Given the description of an element on the screen output the (x, y) to click on. 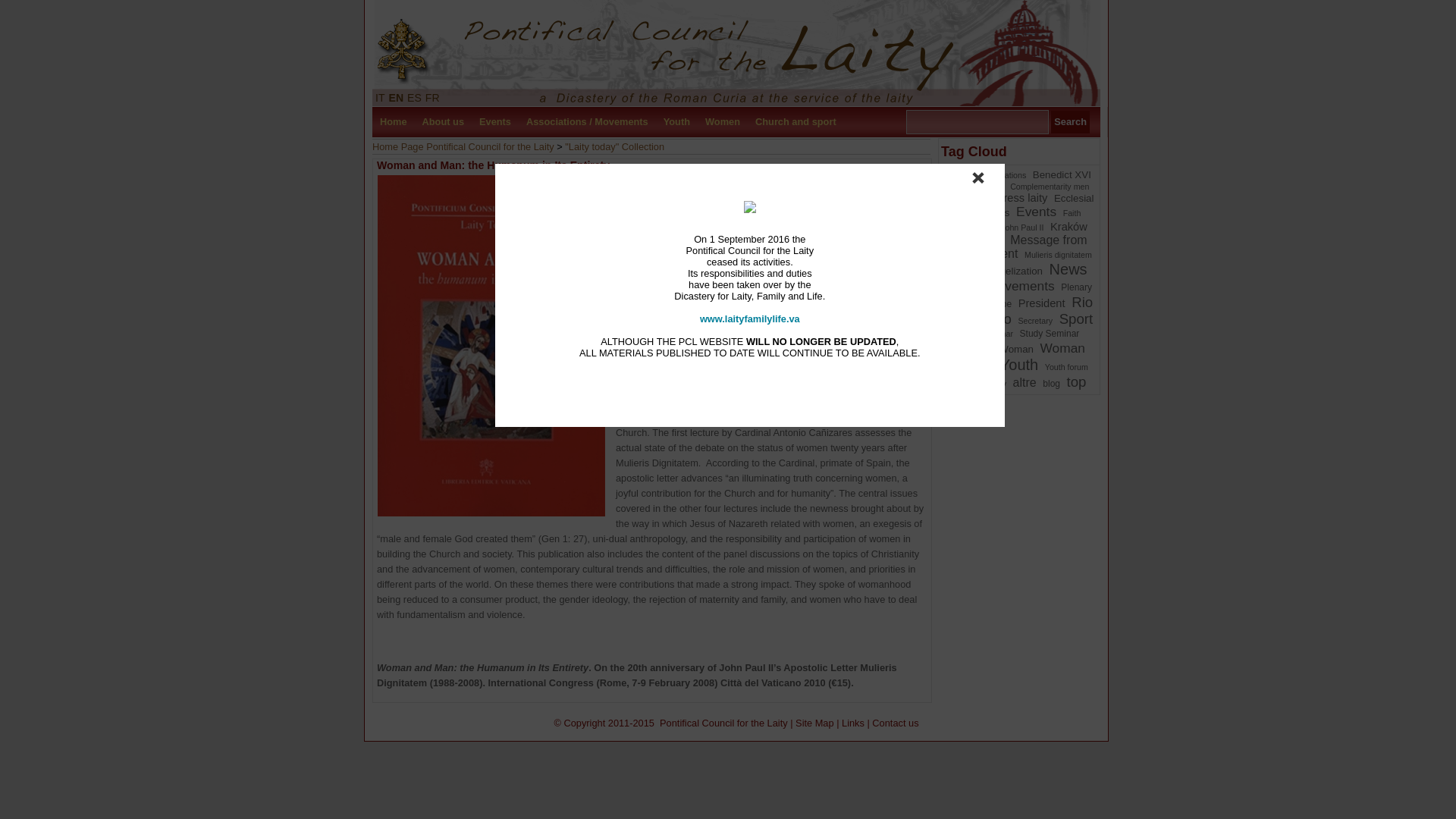
Associations (1002, 174)
Home (393, 122)
Africa (962, 174)
Search (1070, 121)
Home Page Pontifical Council for the Laity (463, 146)
6 (1016, 192)
FR (432, 97)
Search (1070, 121)
Complementarity men women (1016, 192)
Best practices (978, 185)
